Given the description of an element on the screen output the (x, y) to click on. 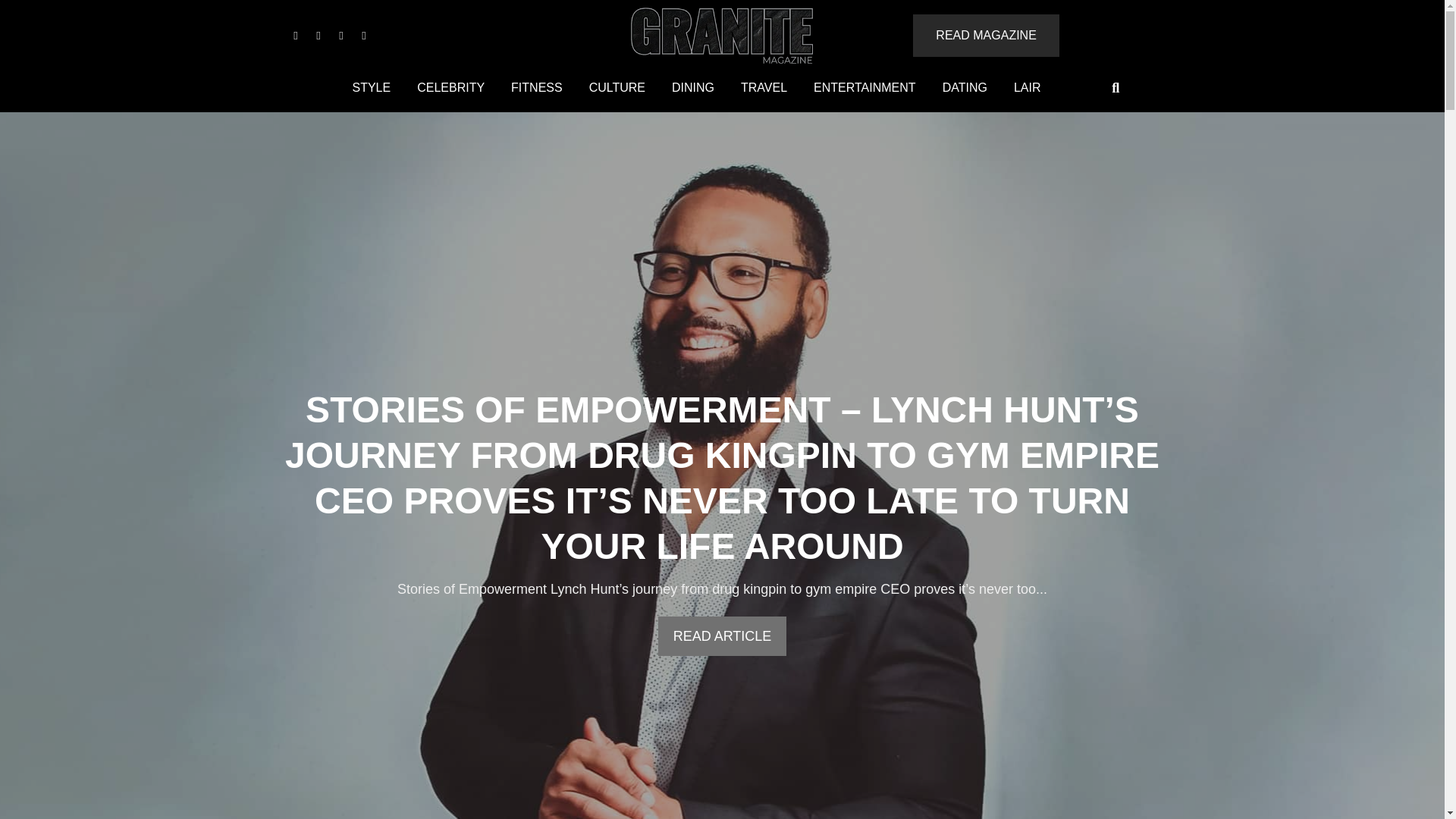
DINING (693, 87)
READ MAGAZINE (985, 35)
CELEBRITY (451, 87)
ENTERTAINMENT (864, 87)
TRAVEL (763, 87)
DATING (964, 87)
STYLE (370, 87)
LAIR (1027, 87)
FITNESS (536, 87)
CULTURE (617, 87)
